Given the description of an element on the screen output the (x, y) to click on. 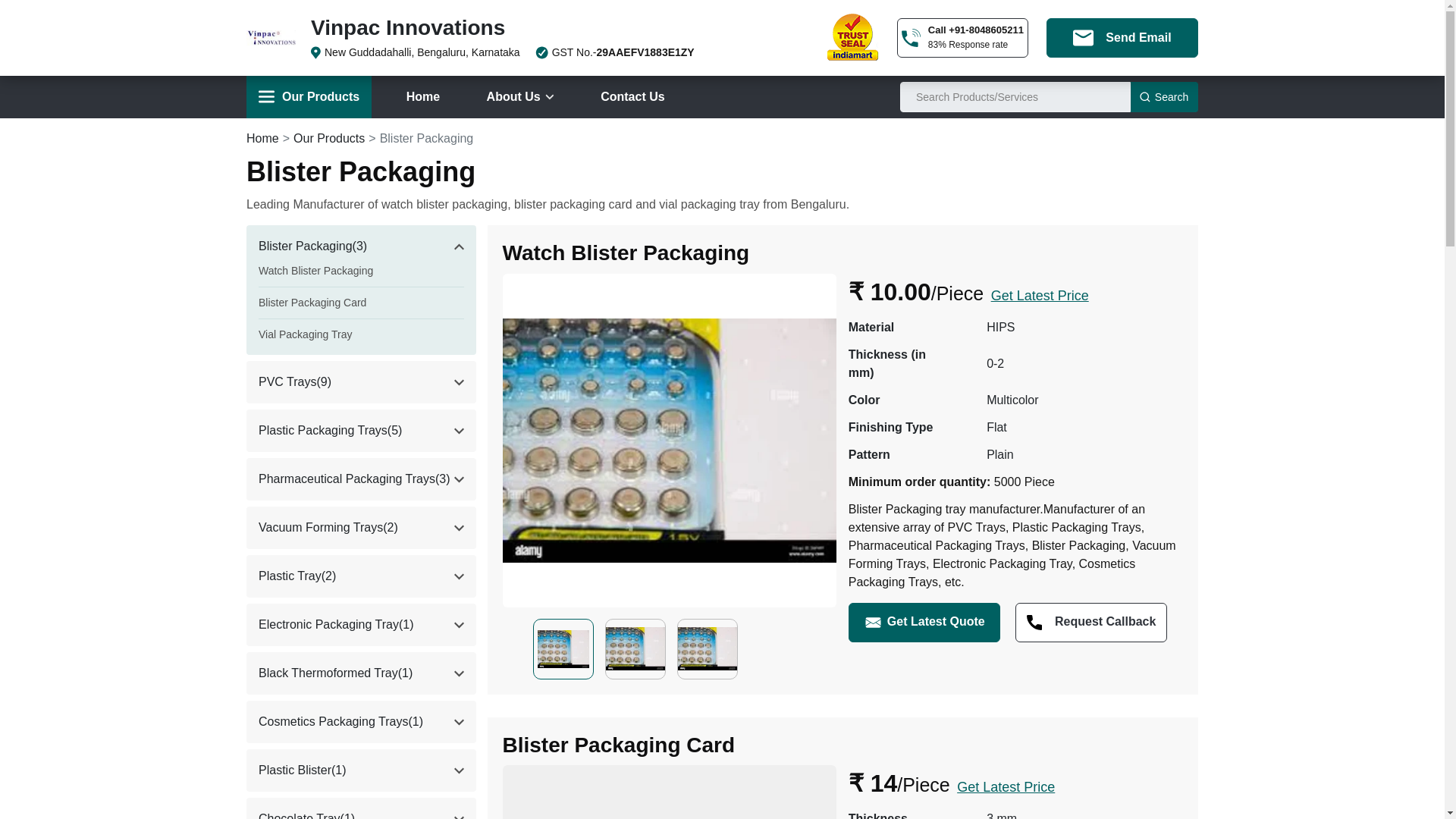
Home (262, 137)
Our Products (308, 96)
Contact Us (632, 96)
Send Email (1122, 37)
Home (422, 96)
Watch Blister Packaging (315, 270)
Blister Packaging Card (312, 302)
About Us (520, 96)
Vial Packaging Tray (305, 334)
Our Products (329, 137)
